Given the description of an element on the screen output the (x, y) to click on. 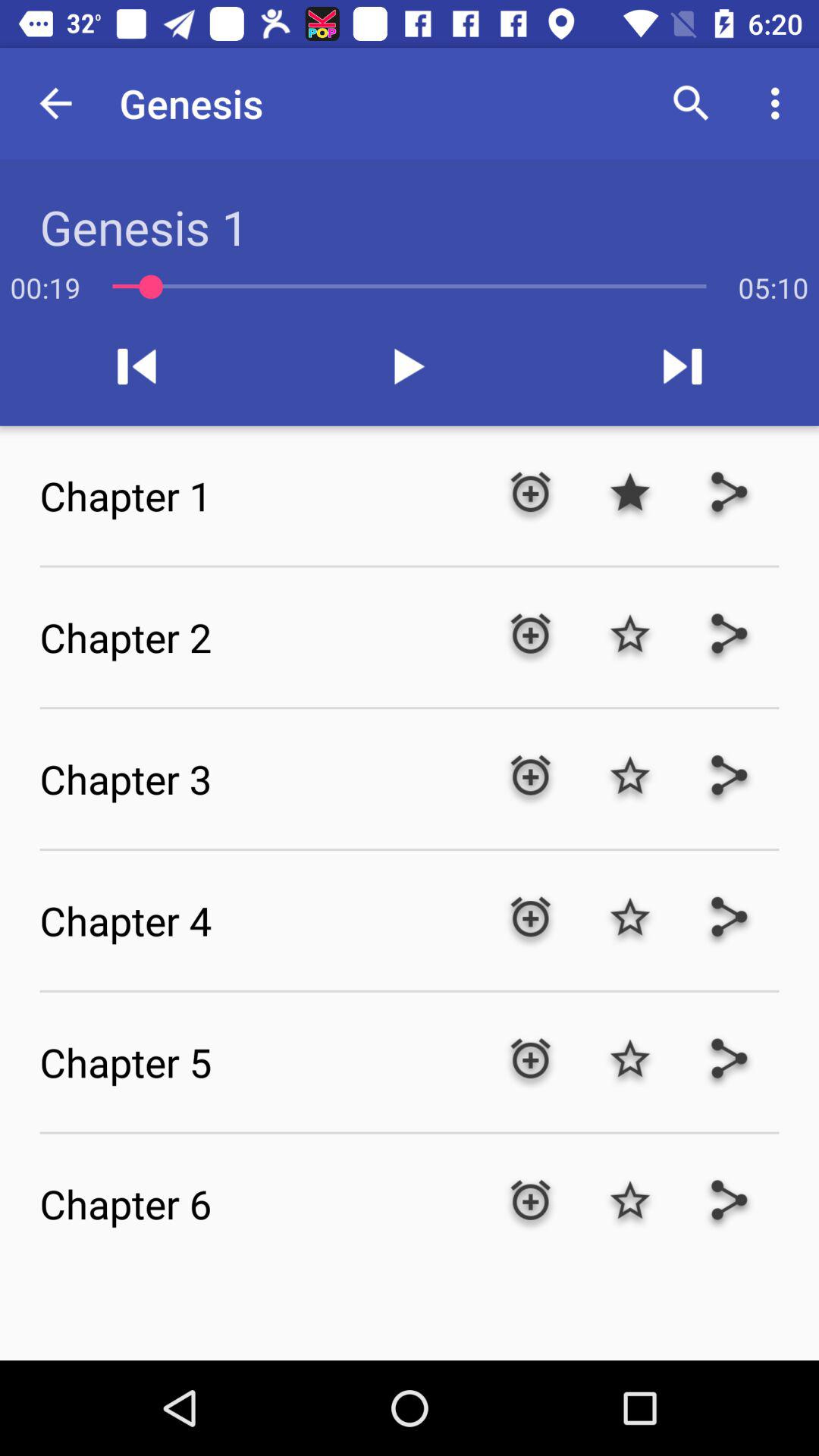
launch the chapter 6 (259, 1203)
